Given the description of an element on the screen output the (x, y) to click on. 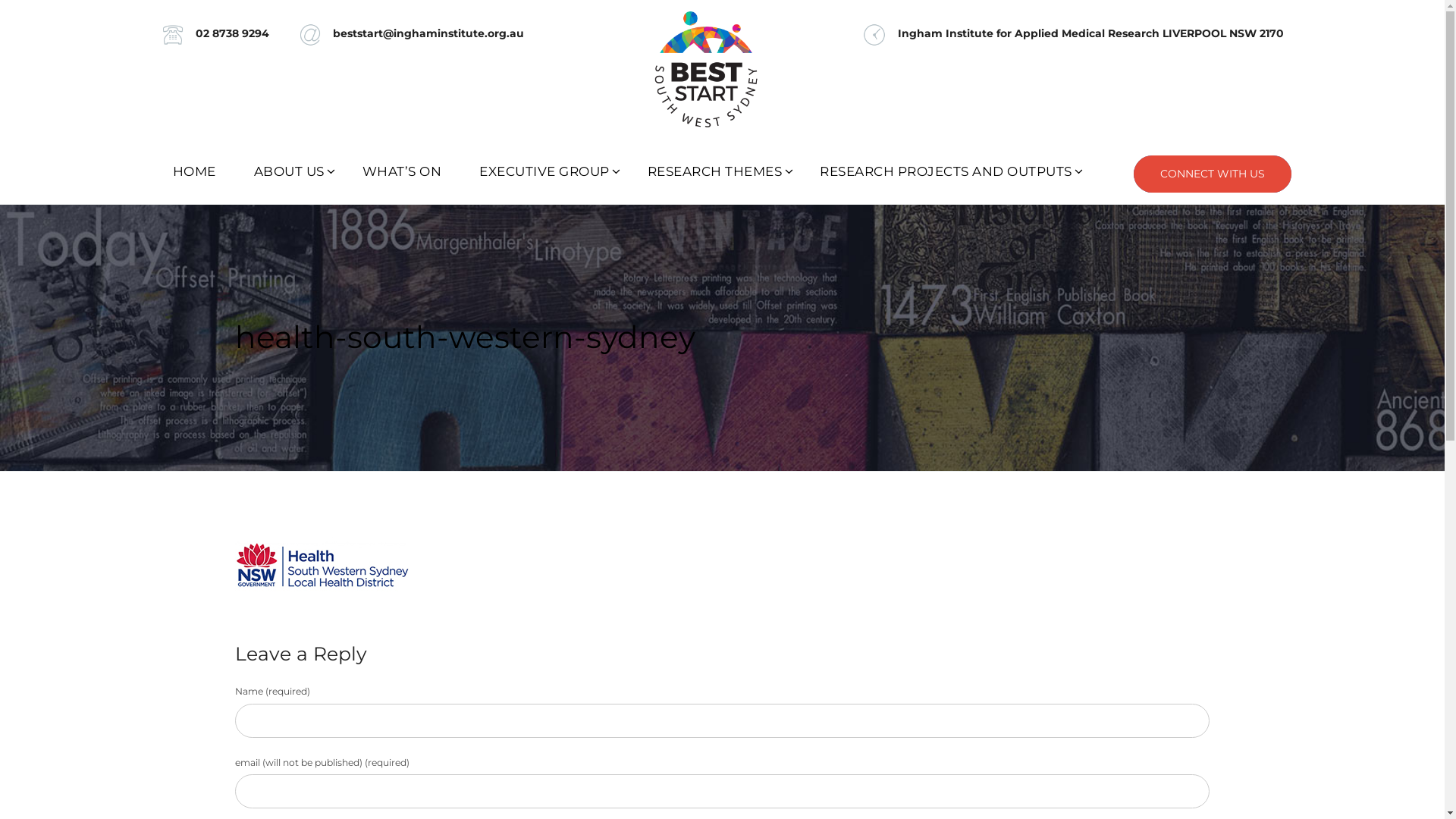
ABOUT US Element type: text (289, 171)
CONNECT WITH US Element type: text (1211, 173)
RESEARCH PROJECTS AND OUTPUTS Element type: text (945, 171)
BestSTART SWS Element type: hover (722, 68)
RESEARCH THEMES Element type: text (713, 171)
HOME Element type: text (193, 171)
EXECUTIVE GROUP Element type: text (544, 171)
